Given the description of an element on the screen output the (x, y) to click on. 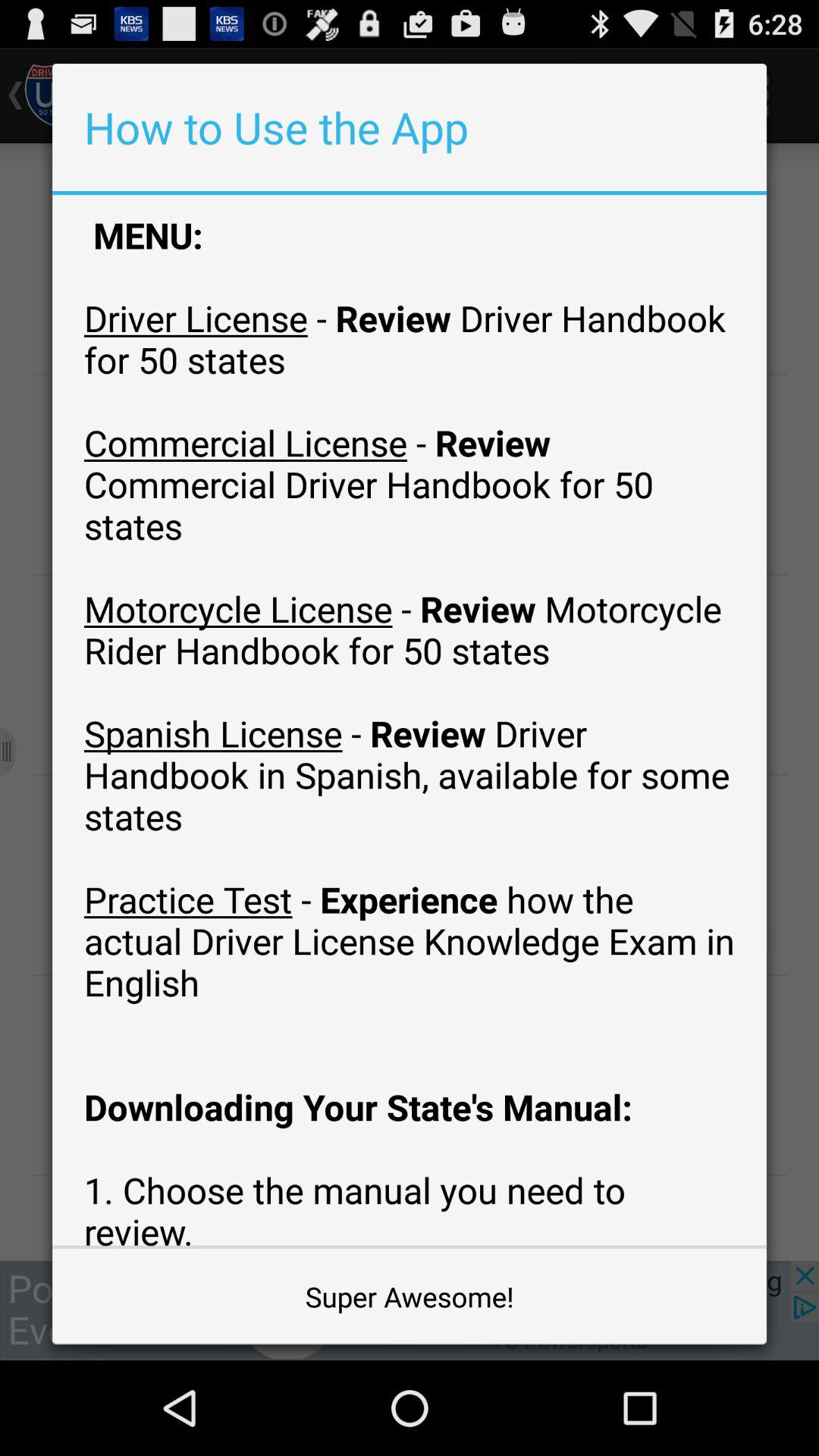
open icon below menu driver license item (409, 1296)
